Given the description of an element on the screen output the (x, y) to click on. 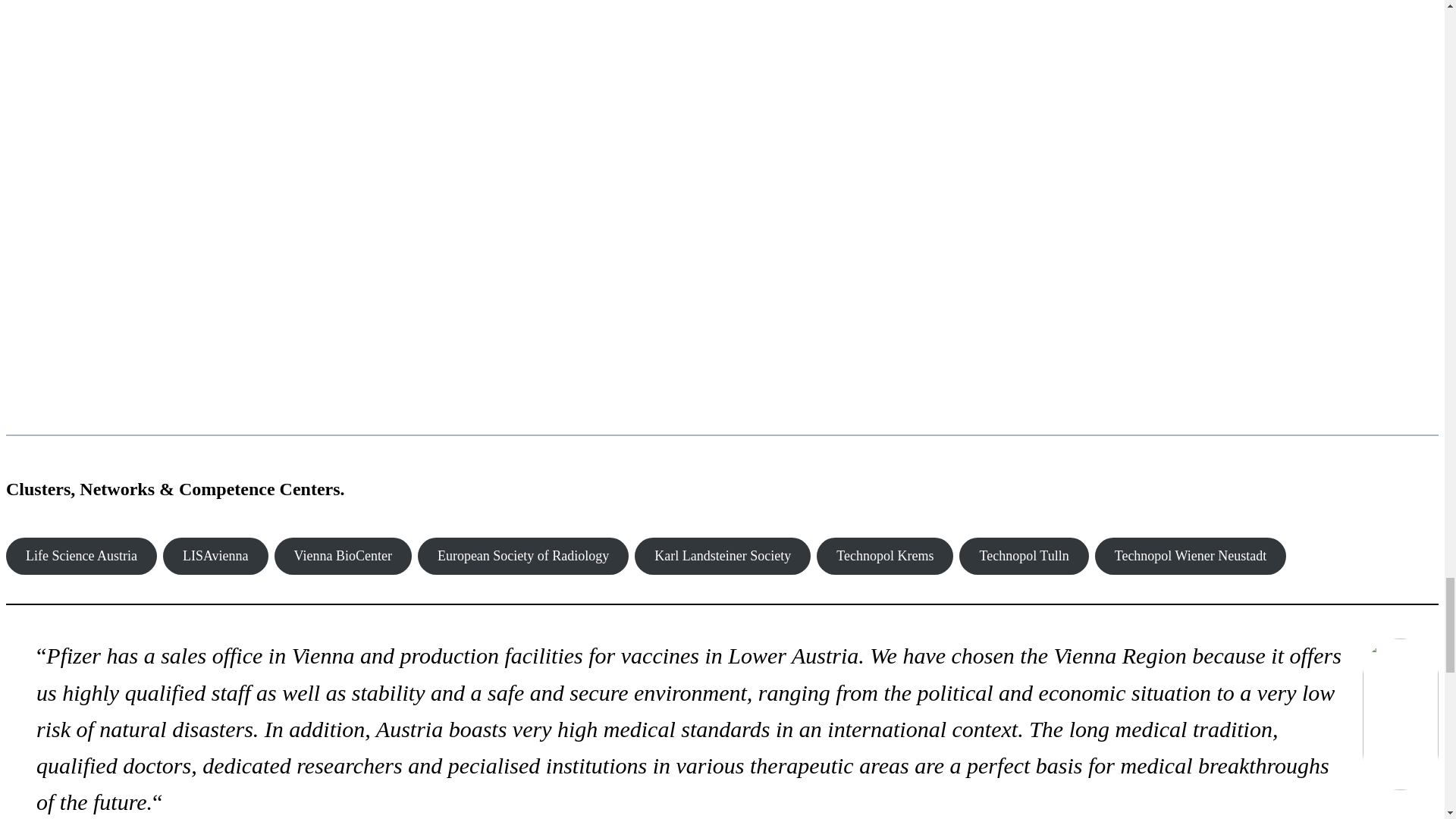
Technopol Krems (884, 555)
Life Science Austria (81, 555)
Technopol Tulln (1023, 555)
Karl Landsteiner Society (722, 555)
LISAvienna (215, 555)
Technopol Wiener Neustadt (1190, 555)
European Society of Radiology (522, 555)
Vienna BioCenter (343, 555)
